Given the description of an element on the screen output the (x, y) to click on. 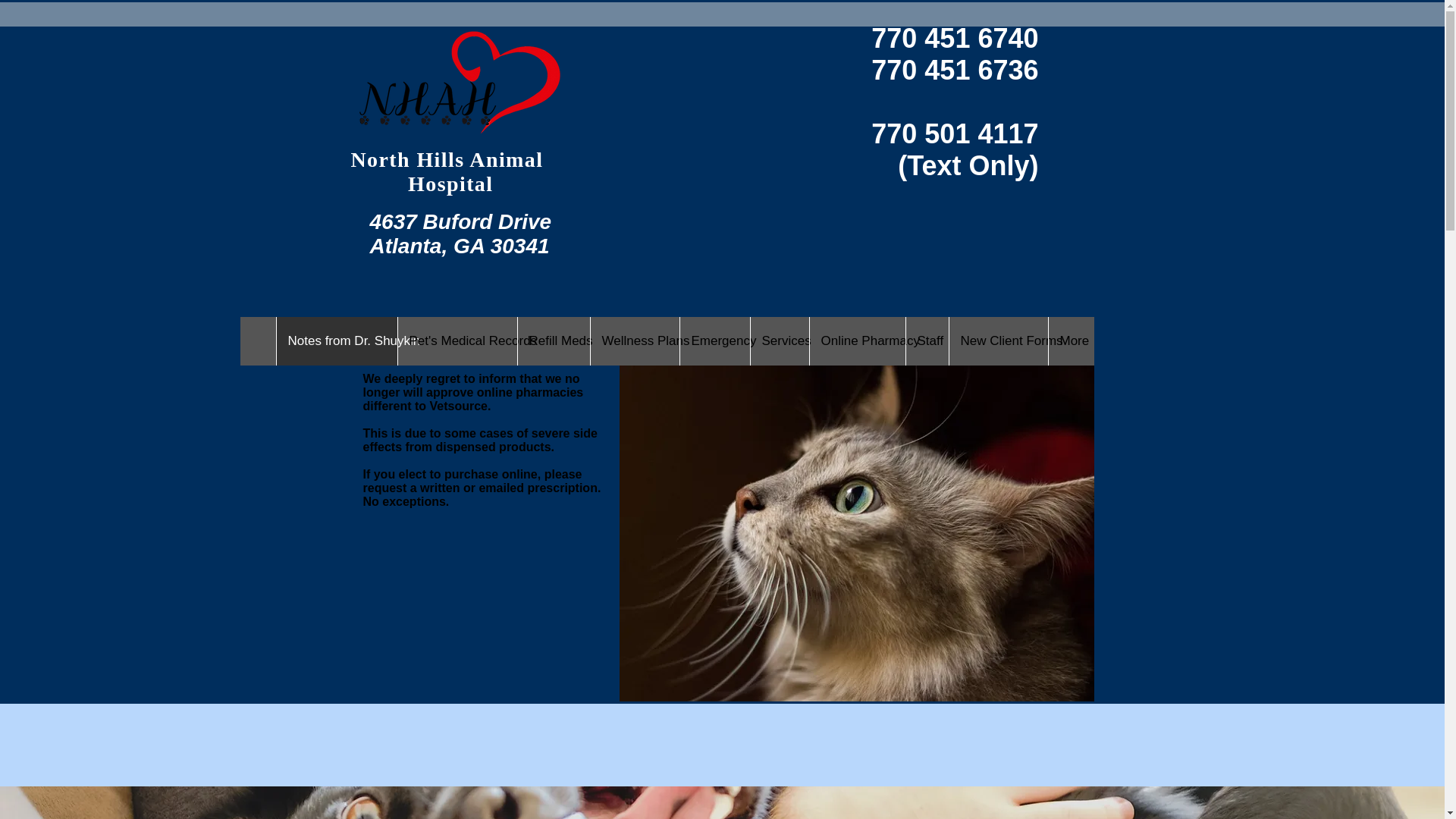
Wellness Plans (634, 340)
New Client Forms (996, 340)
Refill Meds (552, 340)
Staff (927, 340)
Emergency (714, 340)
Online Pharmacy (856, 340)
Services (778, 340)
Notes from Dr. Shuykin (336, 340)
Pet's Medical Records (456, 340)
